Given the description of an element on the screen output the (x, y) to click on. 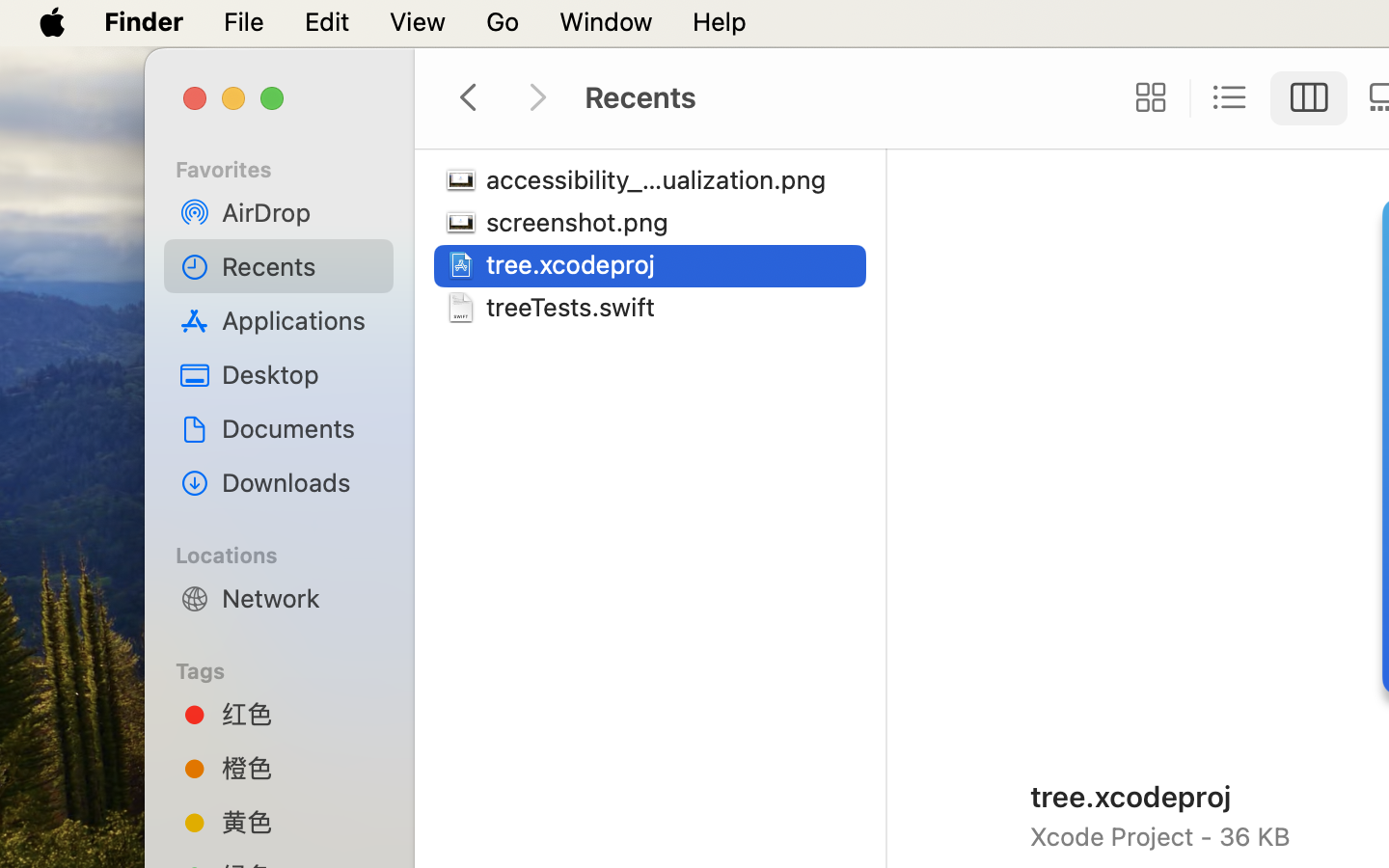
AirDrop Element type: AXStaticText (299, 211)
accessibility_visualization.png Element type: AXTextField (661, 178)
Recents Element type: AXStaticText (299, 265)
tree.xcodeproj Element type: AXTextField (574, 263)
screenshot.png Element type: AXTextField (581, 221)
